Given the description of an element on the screen output the (x, y) to click on. 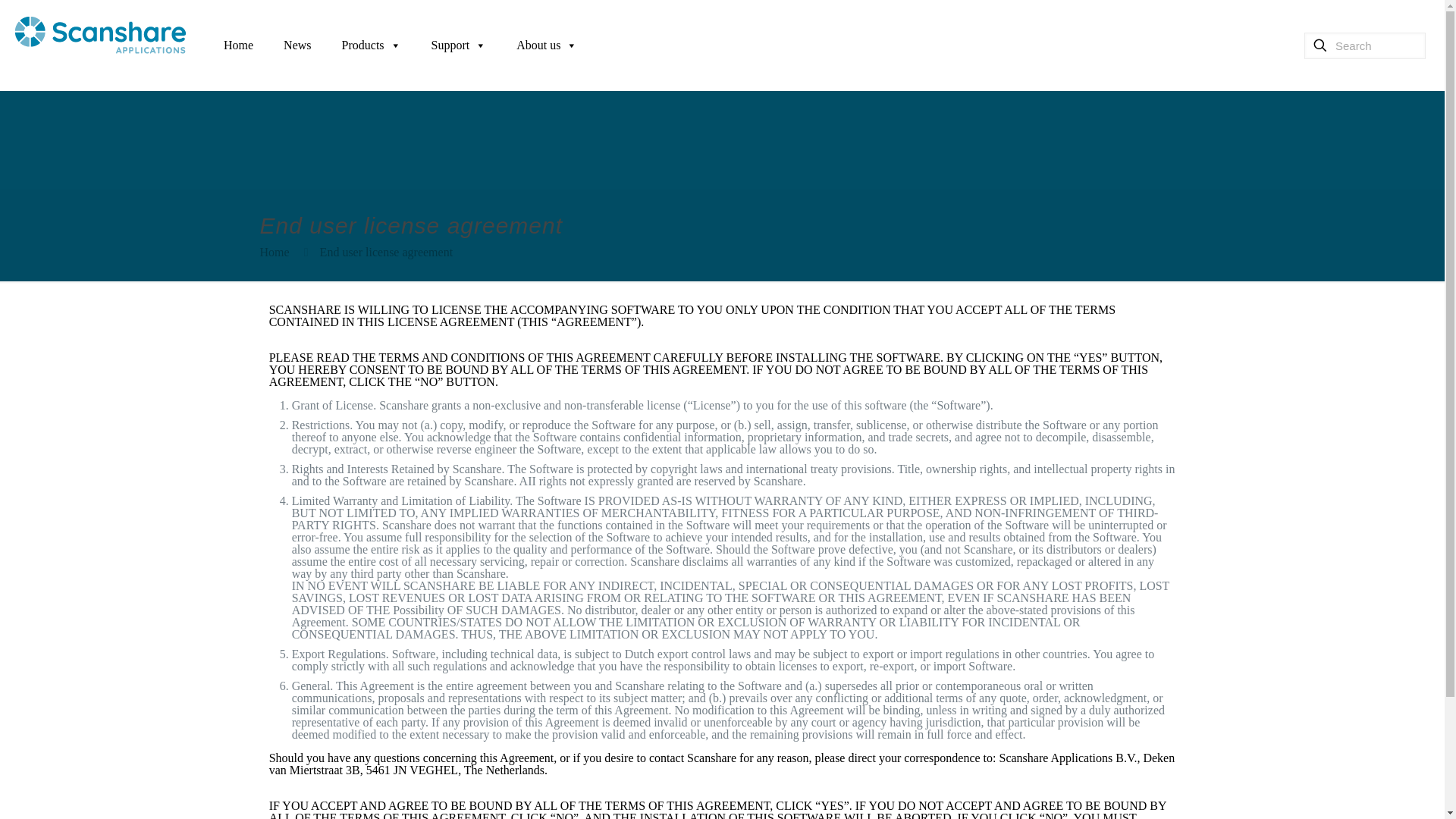
Products (371, 45)
About us (546, 45)
Support (459, 45)
Home (273, 251)
Scanshare Applications (100, 33)
